Given the description of an element on the screen output the (x, y) to click on. 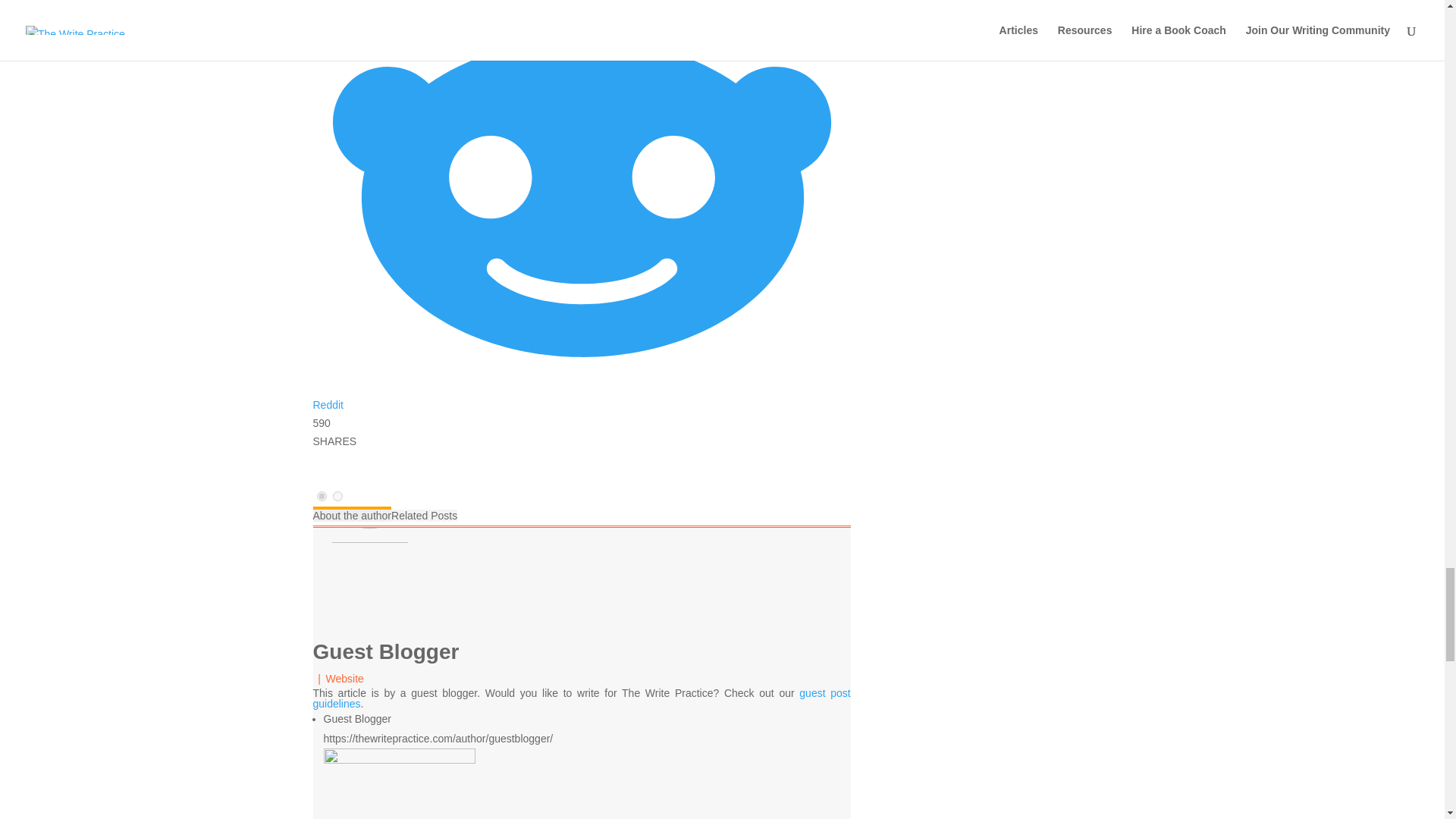
Website (345, 678)
guest post guidelines (581, 698)
Reddit (581, 396)
on (336, 496)
Guest Blogger (385, 651)
on (321, 496)
